Given the description of an element on the screen output the (x, y) to click on. 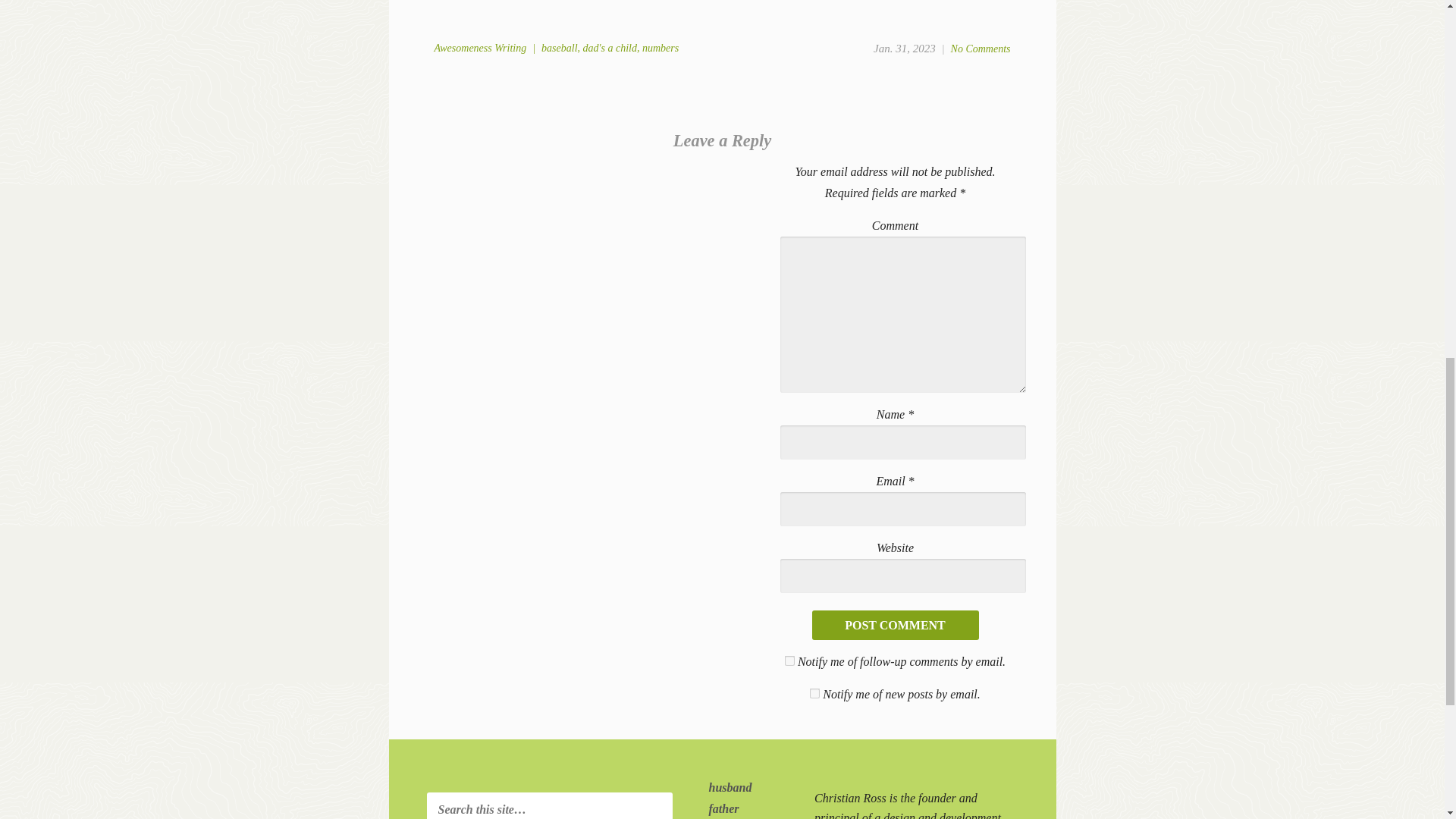
Post Comment (894, 624)
dad's a child (610, 48)
subscribe (789, 660)
No Comments (980, 48)
Post Comment (894, 624)
Awesomeness (462, 48)
Writing (510, 48)
baseball (558, 48)
subscribe (814, 693)
numbers (660, 48)
